Given the description of an element on the screen output the (x, y) to click on. 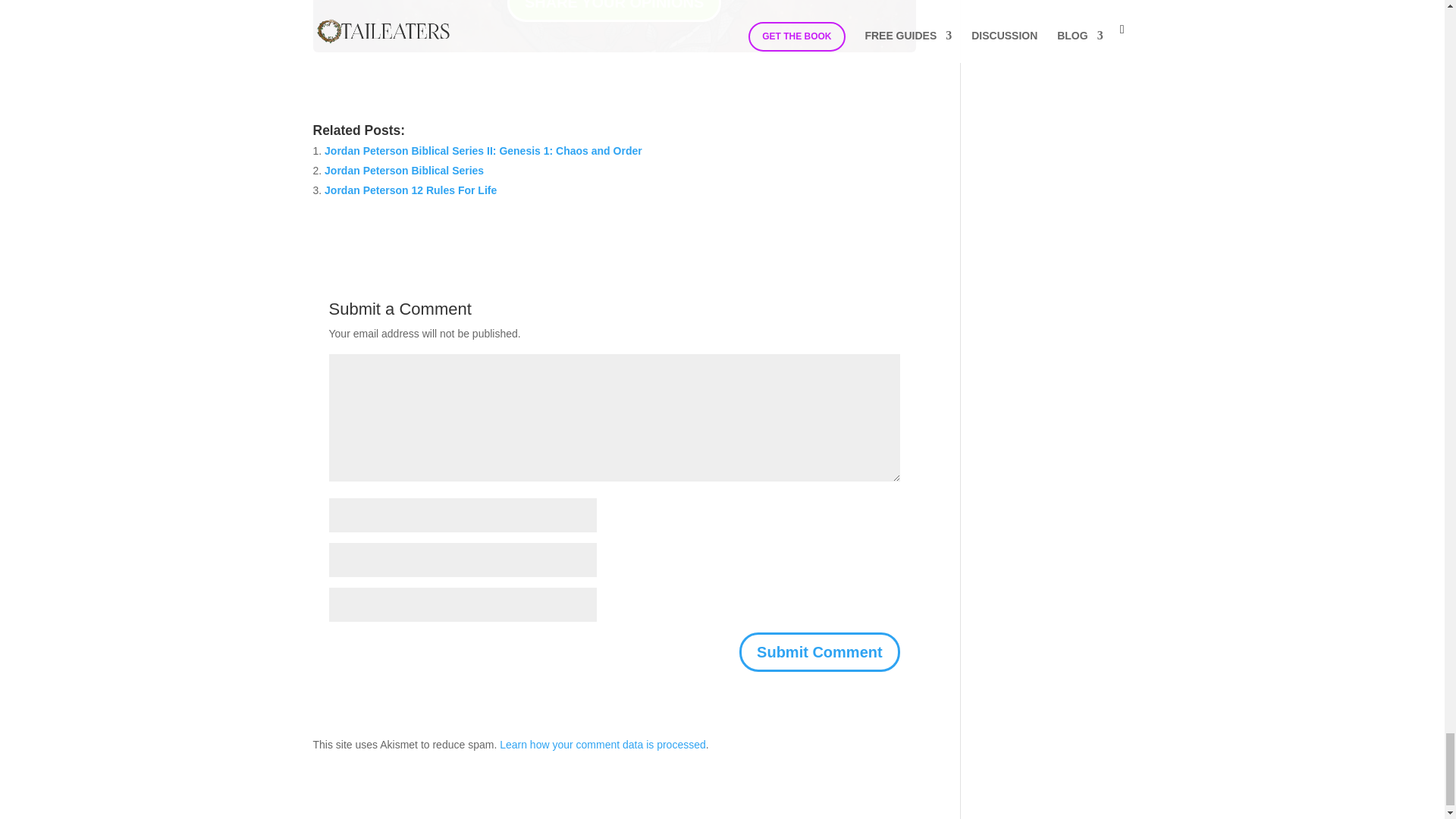
Jordan Peterson 12 Rules For Life (410, 190)
Submit Comment (819, 651)
Jordan Peterson Biblical Series (403, 170)
SHARE YOUR OPINIONS (613, 11)
